Given the description of an element on the screen output the (x, y) to click on. 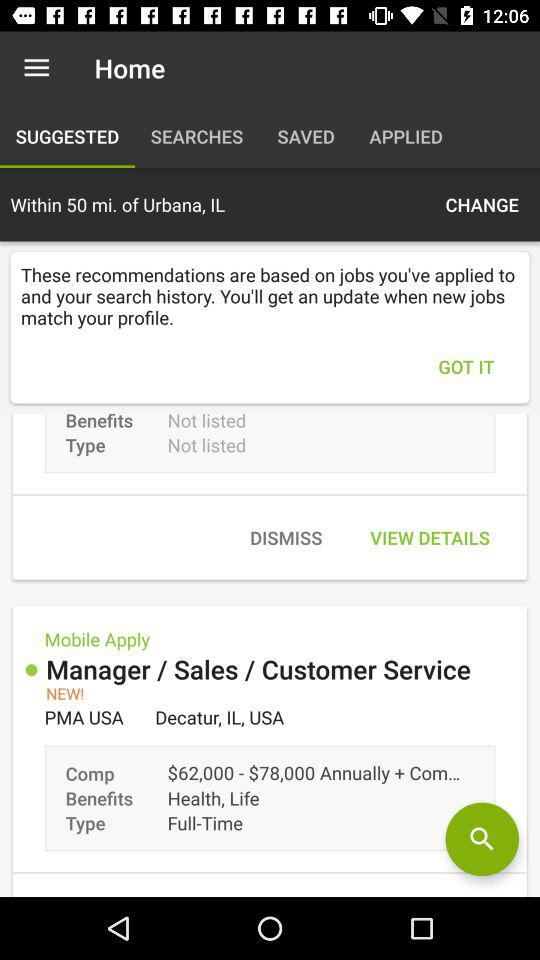
select got it icon (466, 366)
